Given the description of an element on the screen output the (x, y) to click on. 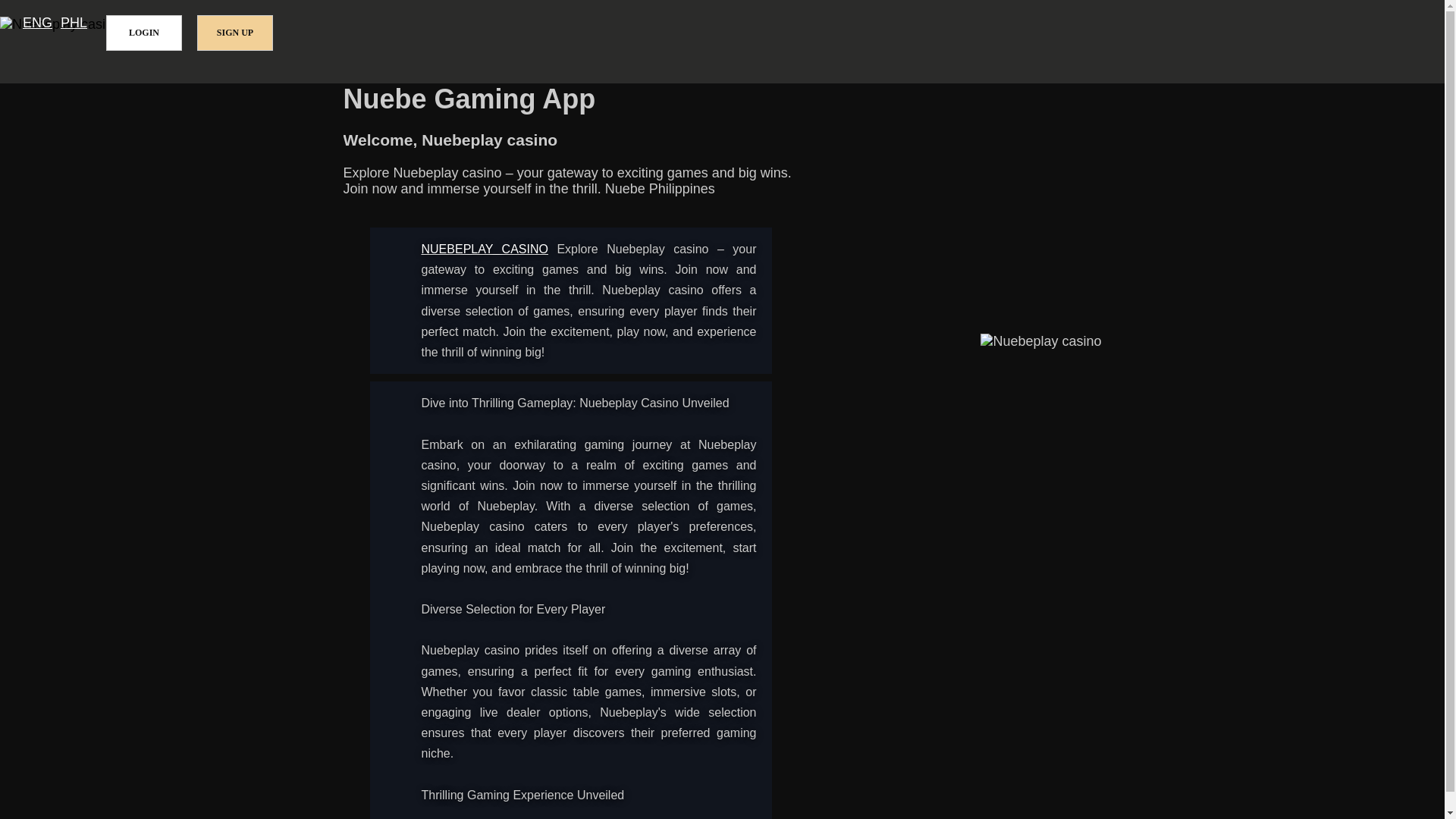
LOGIN (144, 32)
PHL (74, 23)
Filipino (74, 23)
English (37, 23)
Nuebeplay casino (485, 248)
ENG (37, 23)
NUEBEPLAY CASINO (485, 248)
SIGN UP (234, 32)
